Given the description of an element on the screen output the (x, y) to click on. 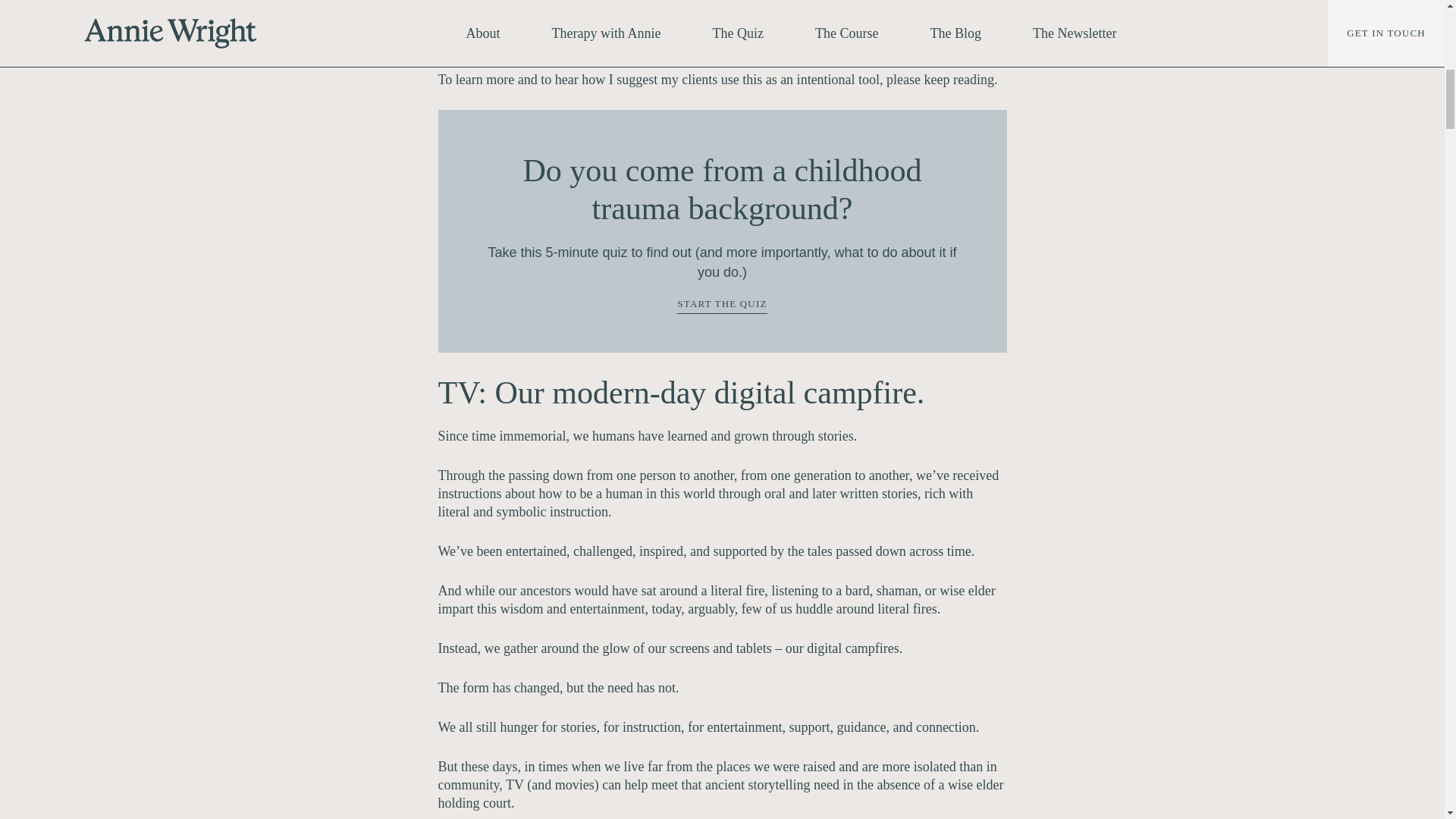
START THE QUIZ (722, 305)
